Given the description of an element on the screen output the (x, y) to click on. 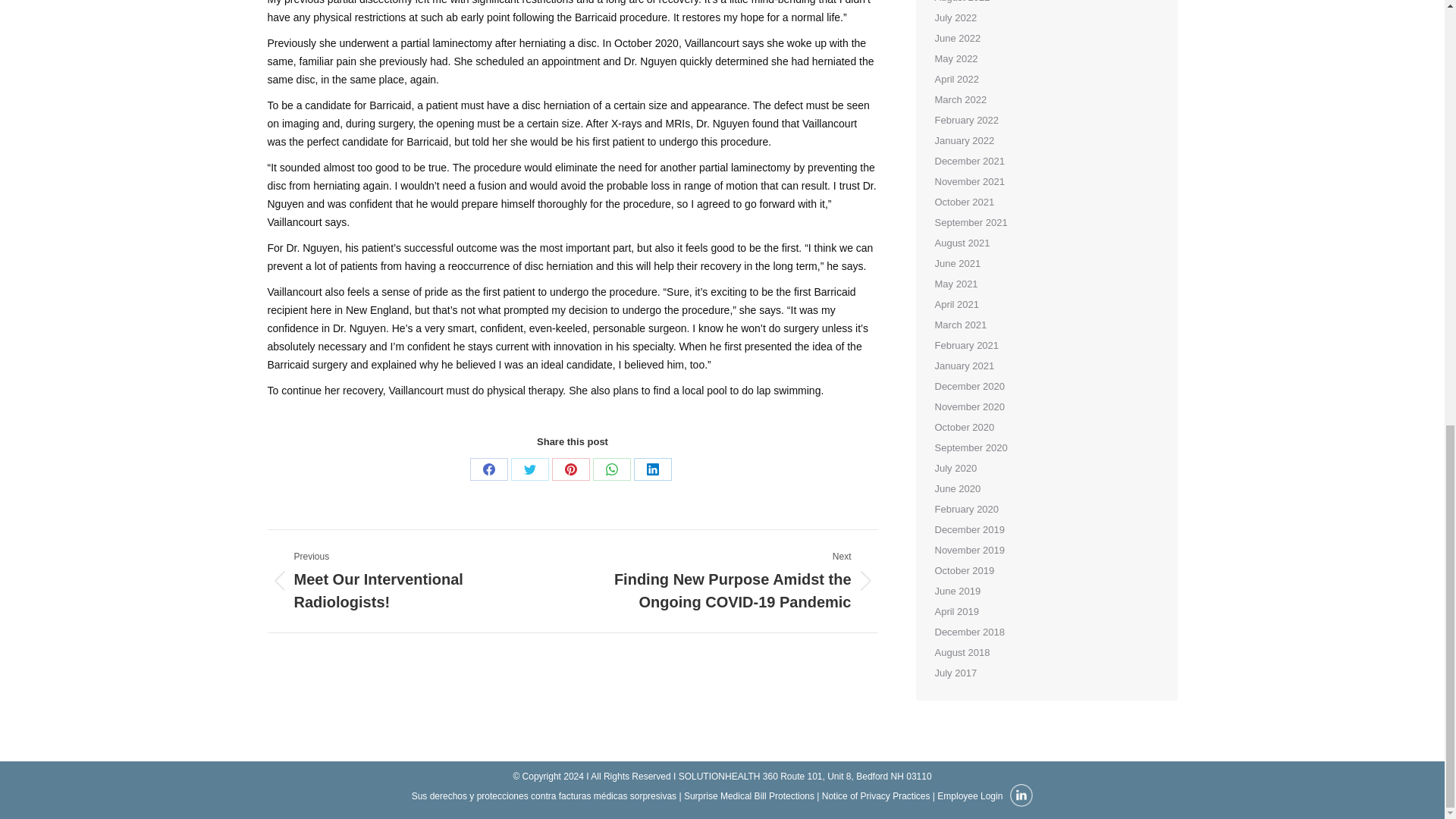
Pinterest (570, 468)
Facebook (489, 468)
WhatsApp (611, 468)
Twitter (529, 468)
LinkedIn (652, 468)
